Given the description of an element on the screen output the (x, y) to click on. 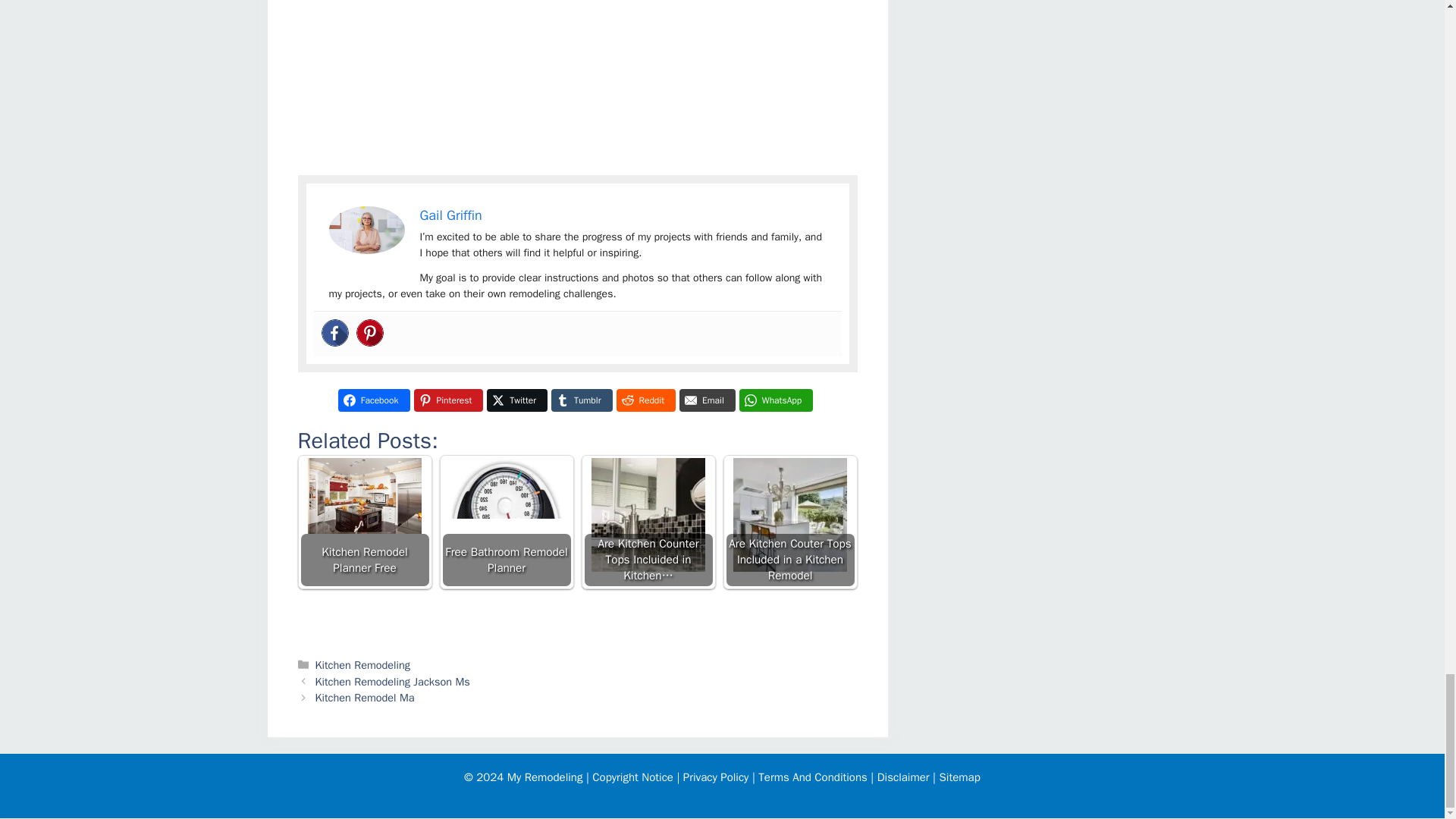
Share on WhatsApp (776, 400)
Share on Facebook (373, 400)
Share on Twitter (516, 400)
Share on Pinterest (448, 400)
Facebook (335, 332)
Share on Email (707, 400)
Pinterest (370, 332)
Kitchen Remodel Planner 2 (366, 229)
Share on Tumblr (581, 400)
Share on Reddit (645, 400)
